Given the description of an element on the screen output the (x, y) to click on. 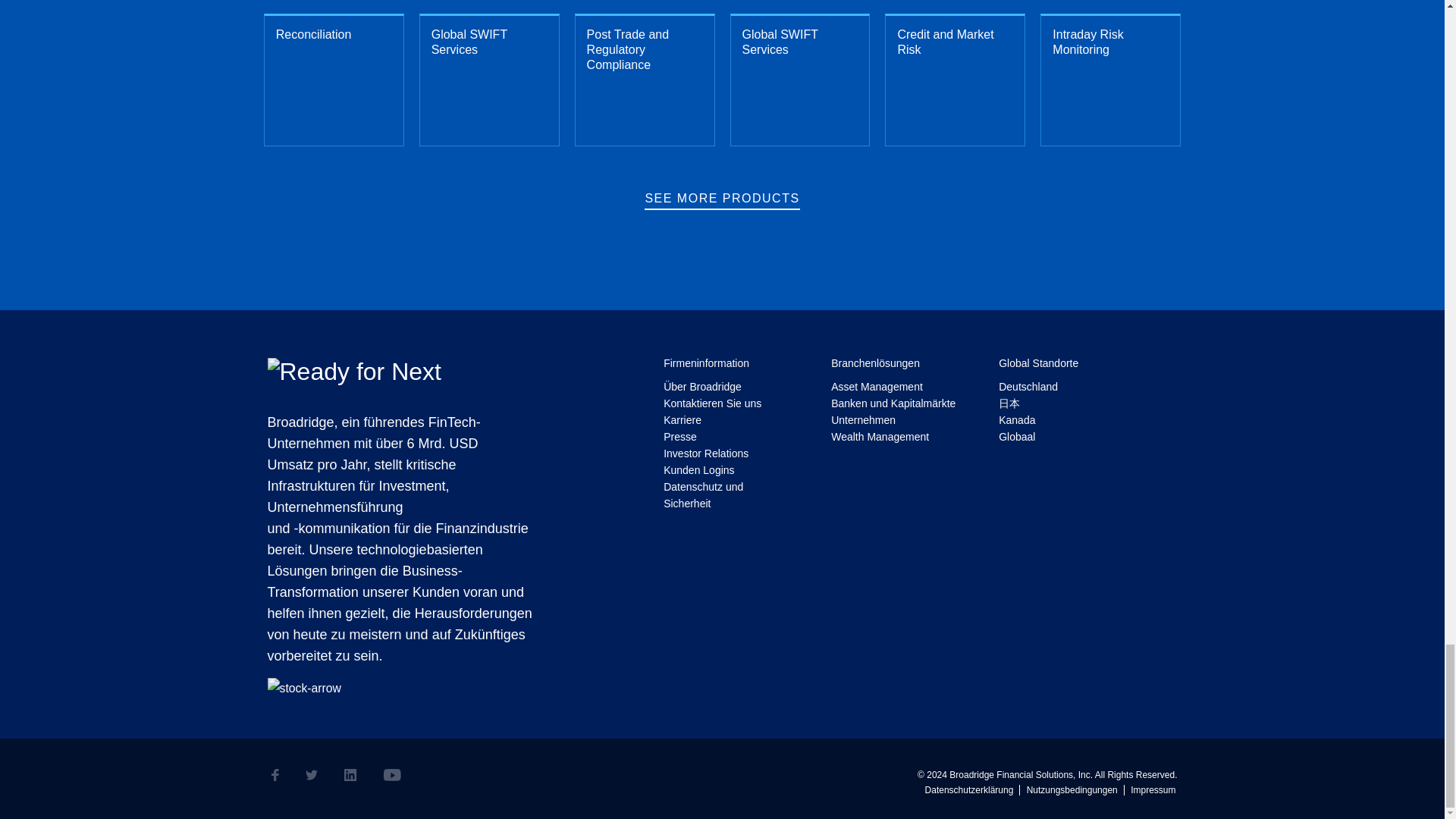
Twitter Icon (311, 774)
Linkedin Icon (349, 775)
Youtube Icon (392, 775)
